Given the description of an element on the screen output the (x, y) to click on. 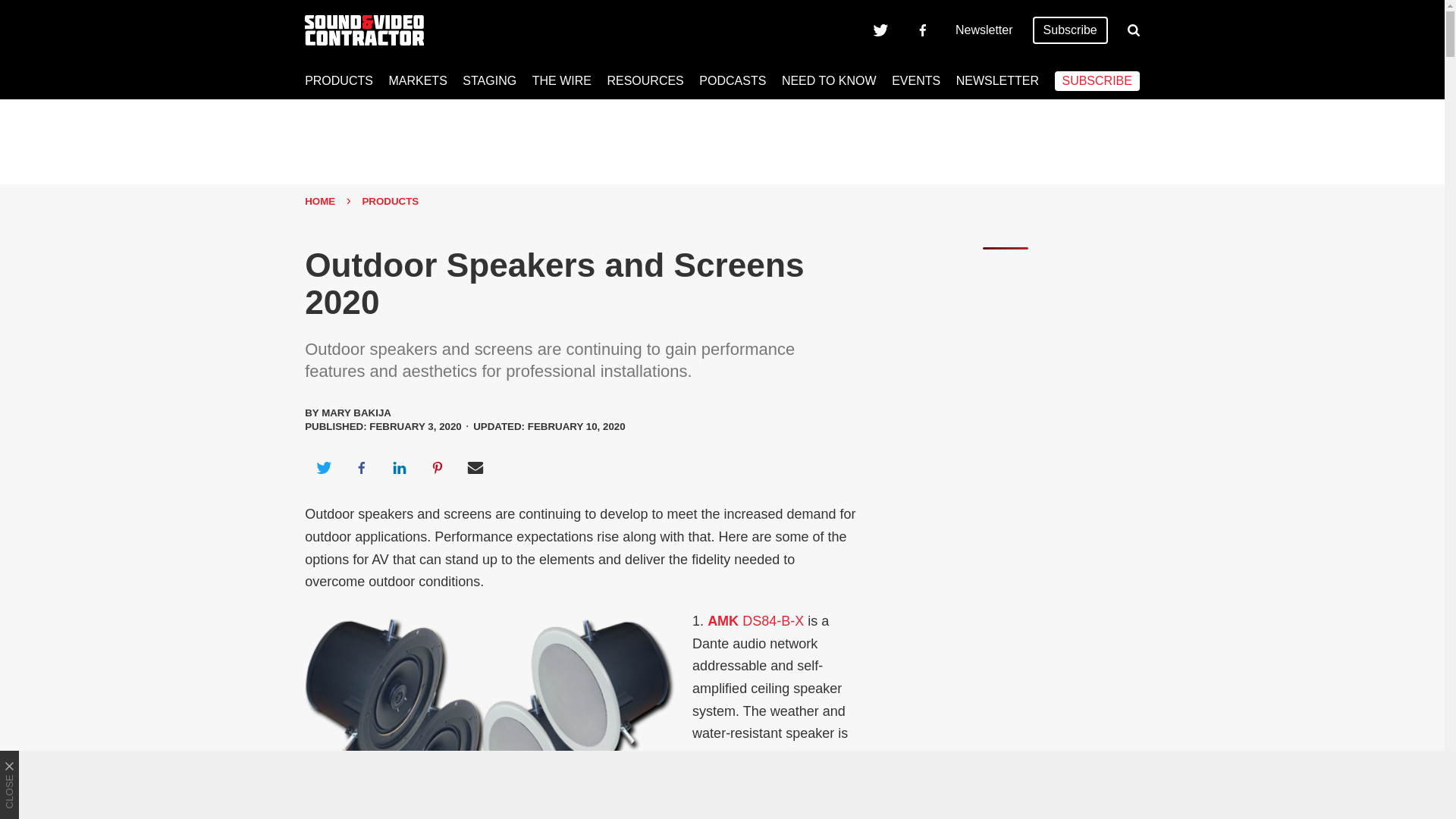
Share on Twitter (323, 467)
Share on LinkedIn (399, 467)
Share via Email (476, 467)
Share on Pinterest (438, 467)
Share on Facebook (361, 467)
